Given the description of an element on the screen output the (x, y) to click on. 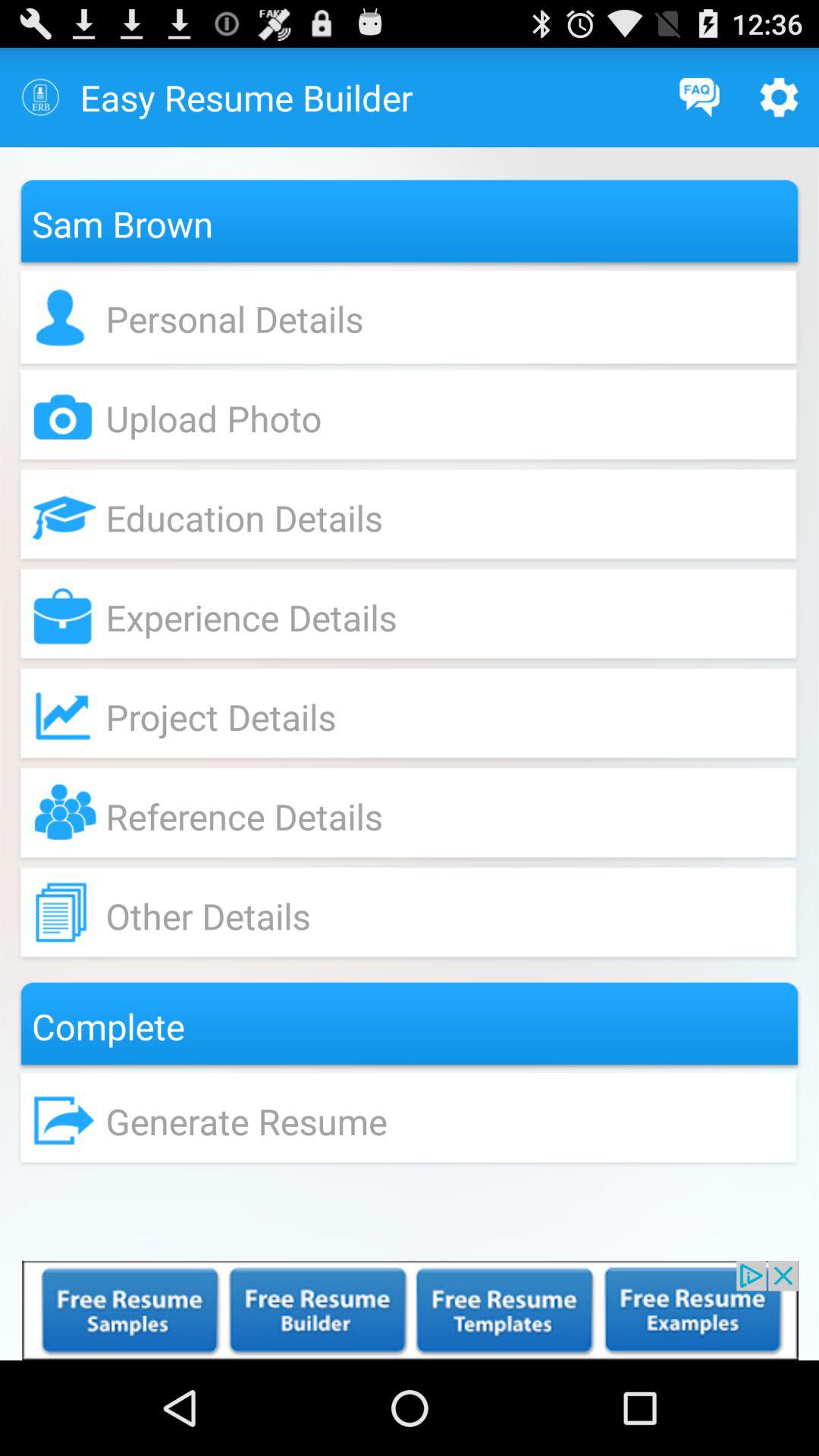
configuraes do app (779, 97)
